Given the description of an element on the screen output the (x, y) to click on. 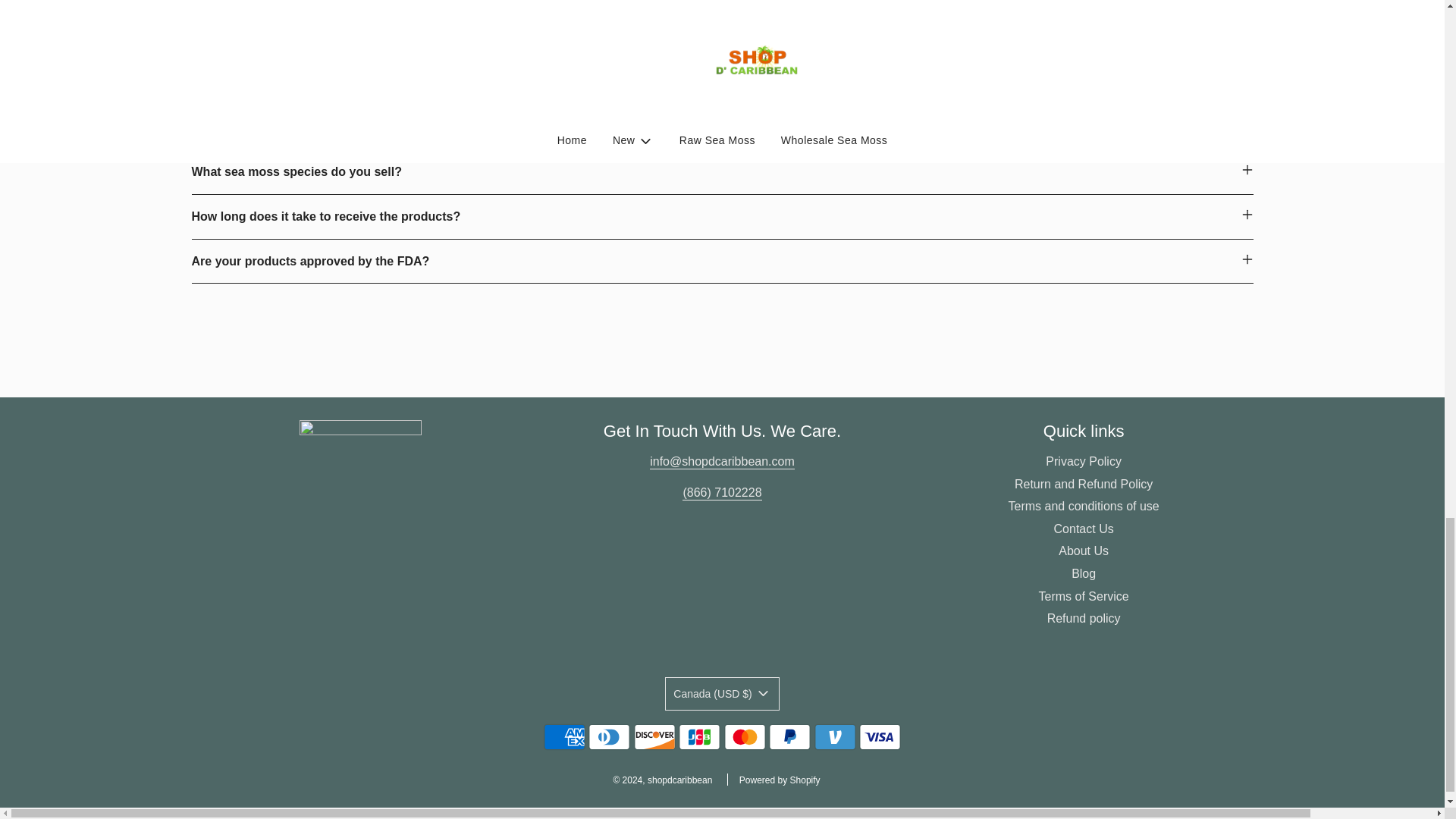
Diners Club (609, 736)
Discover (654, 736)
Mastercard (744, 736)
Venmo (834, 736)
Return and Refund Policy (1083, 483)
Visa (880, 736)
JCB (699, 736)
American Express (564, 736)
Privacy Policy (1083, 461)
PayPal (789, 736)
